Given the description of an element on the screen output the (x, y) to click on. 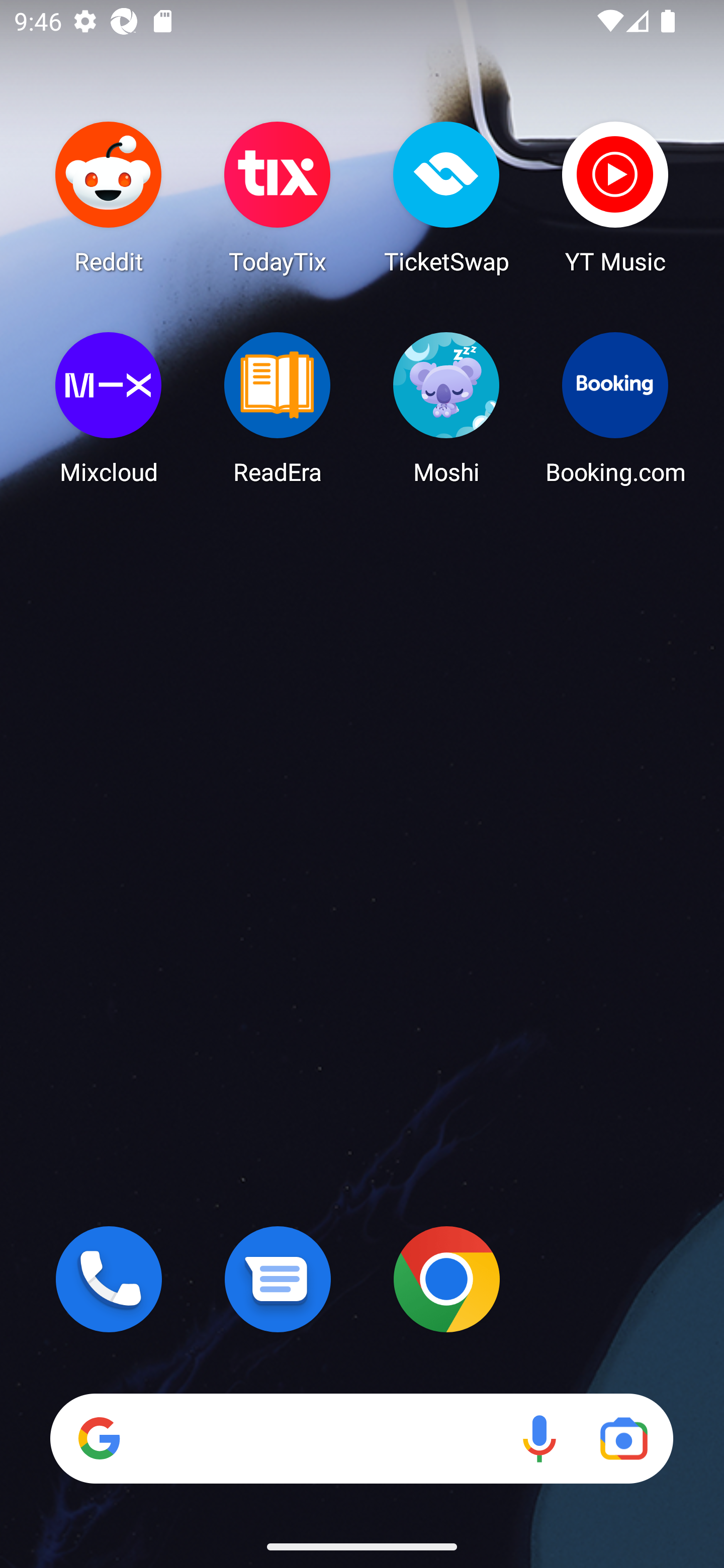
Reddit (108, 196)
TodayTix (277, 196)
TicketSwap (445, 196)
YT Music (615, 196)
Mixcloud (108, 407)
ReadEra (277, 407)
Moshi (445, 407)
Booking.com (615, 407)
Phone (108, 1279)
Messages (277, 1279)
Chrome (446, 1279)
Search Voice search Google Lens (361, 1438)
Voice search (539, 1438)
Google Lens (623, 1438)
